Given the description of an element on the screen output the (x, y) to click on. 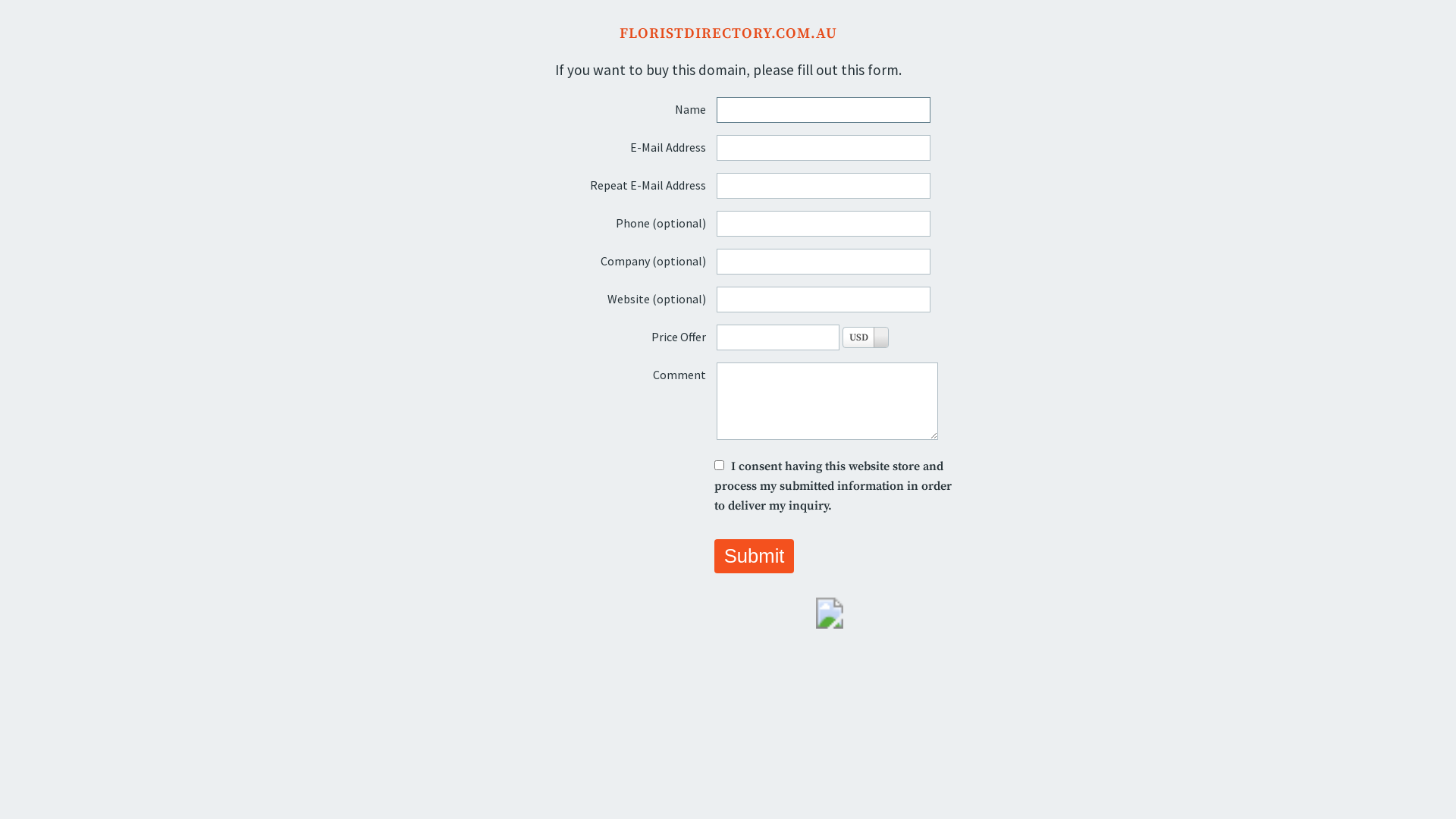
Submit Element type: text (753, 556)
USD Element type: text (865, 337)
